Given the description of an element on the screen output the (x, y) to click on. 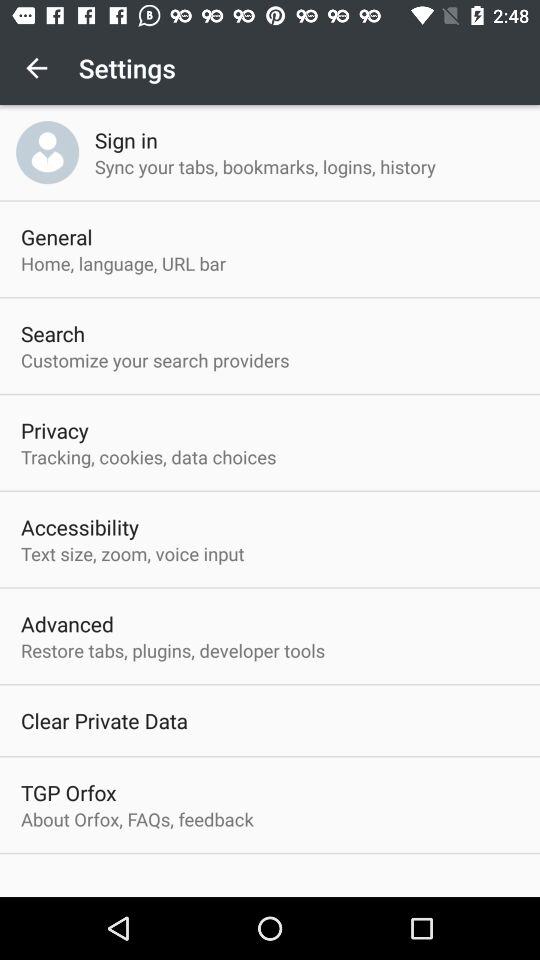
turn on item to the left of the settings item (36, 68)
